Given the description of an element on the screen output the (x, y) to click on. 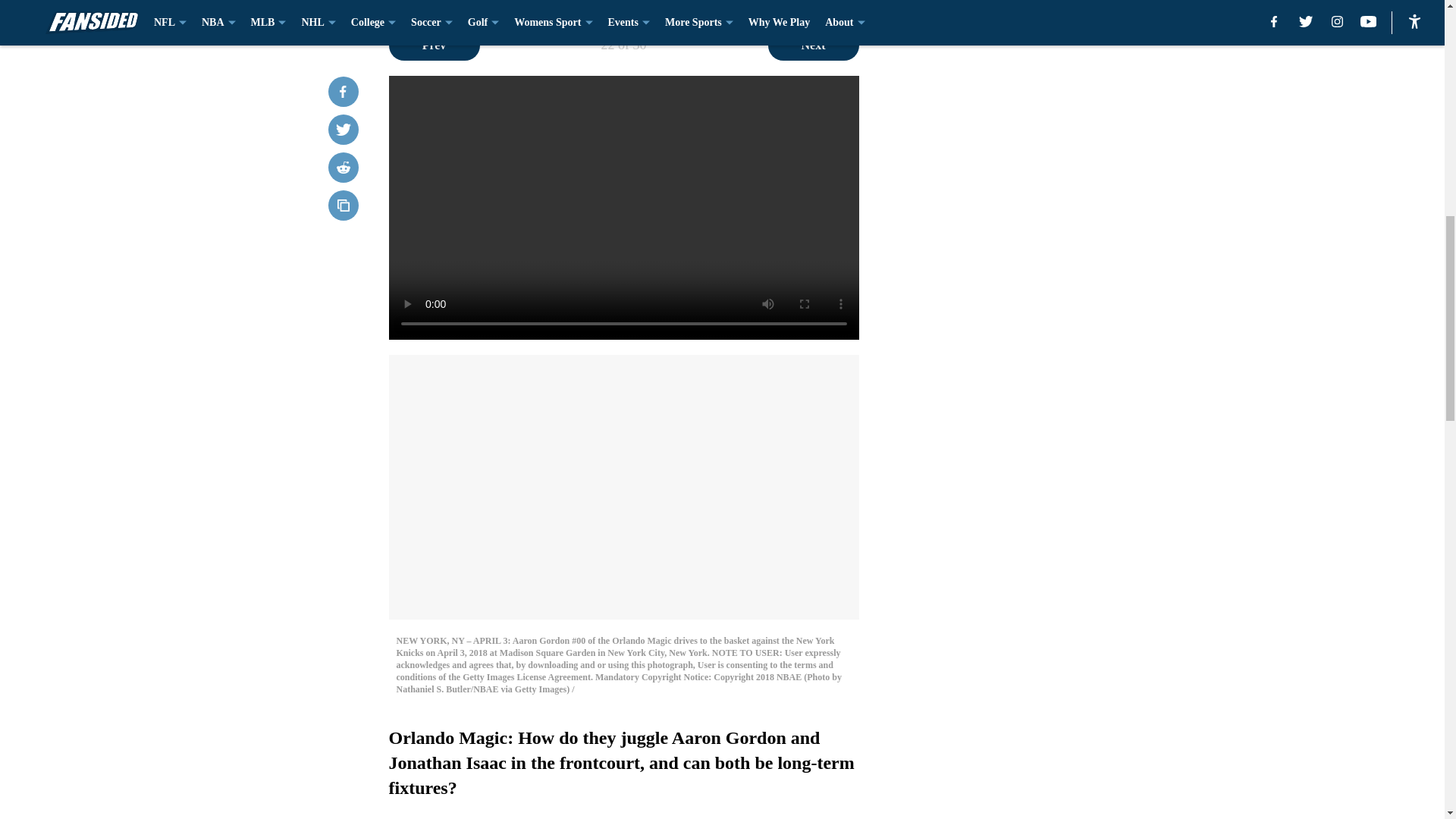
3rd party ad content (1047, 344)
3rd party ad content (1047, 125)
